Given the description of an element on the screen output the (x, y) to click on. 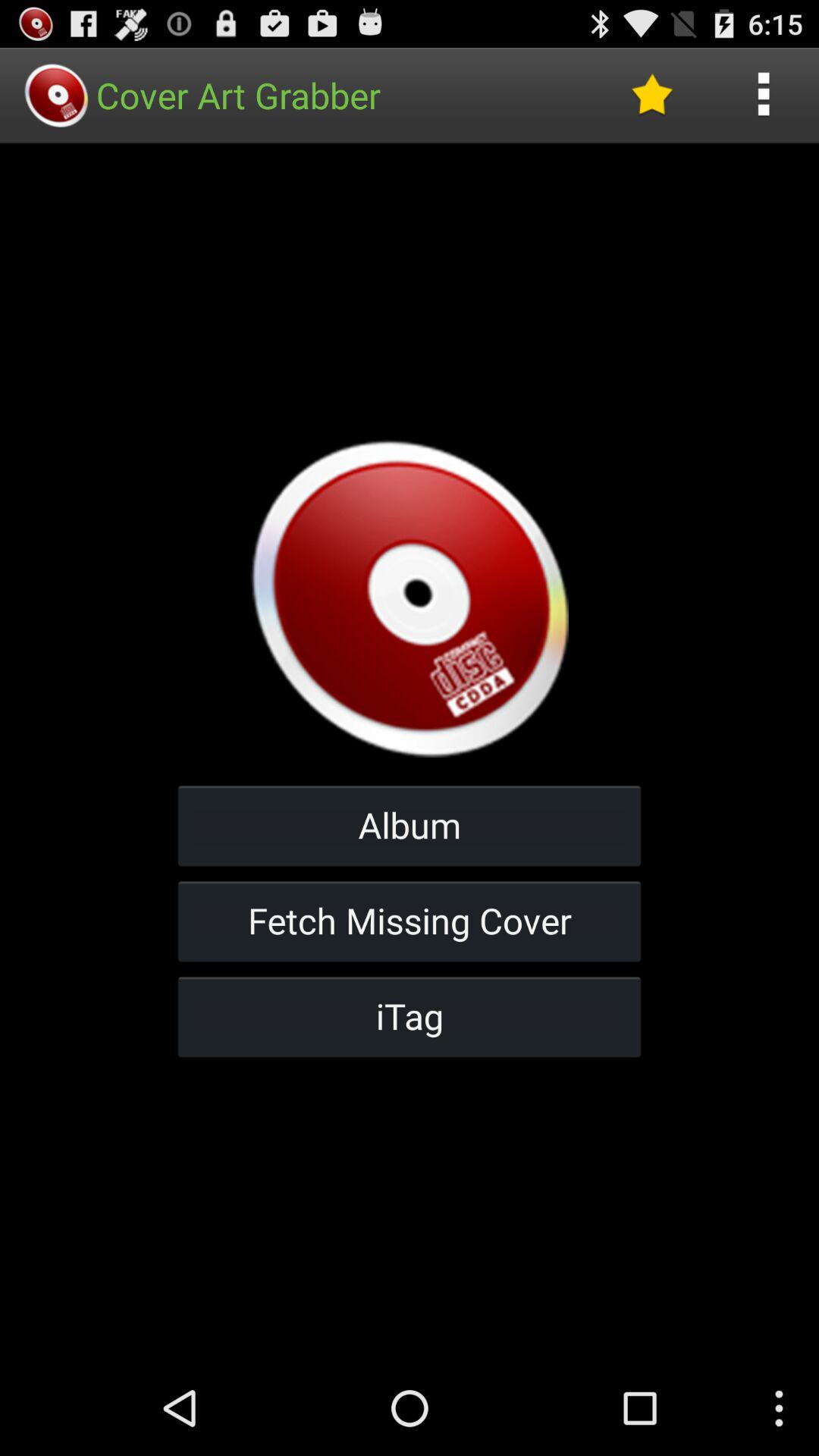
turn off album item (409, 825)
